Given the description of an element on the screen output the (x, y) to click on. 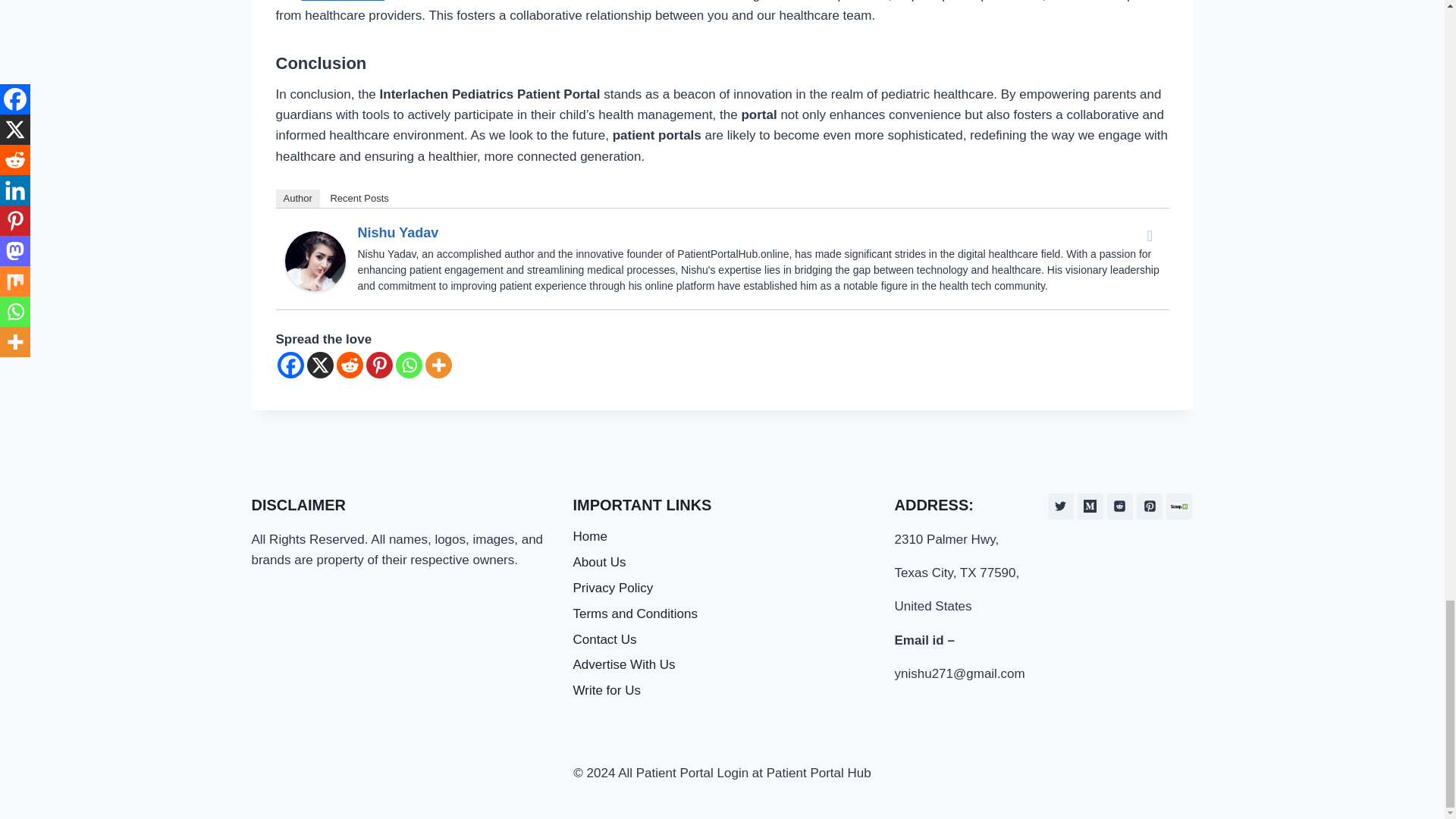
Author (298, 198)
Nishu Yadav (315, 260)
Recent Posts (358, 198)
Patient Portal (343, 1)
Twitter (1149, 235)
